Given the description of an element on the screen output the (x, y) to click on. 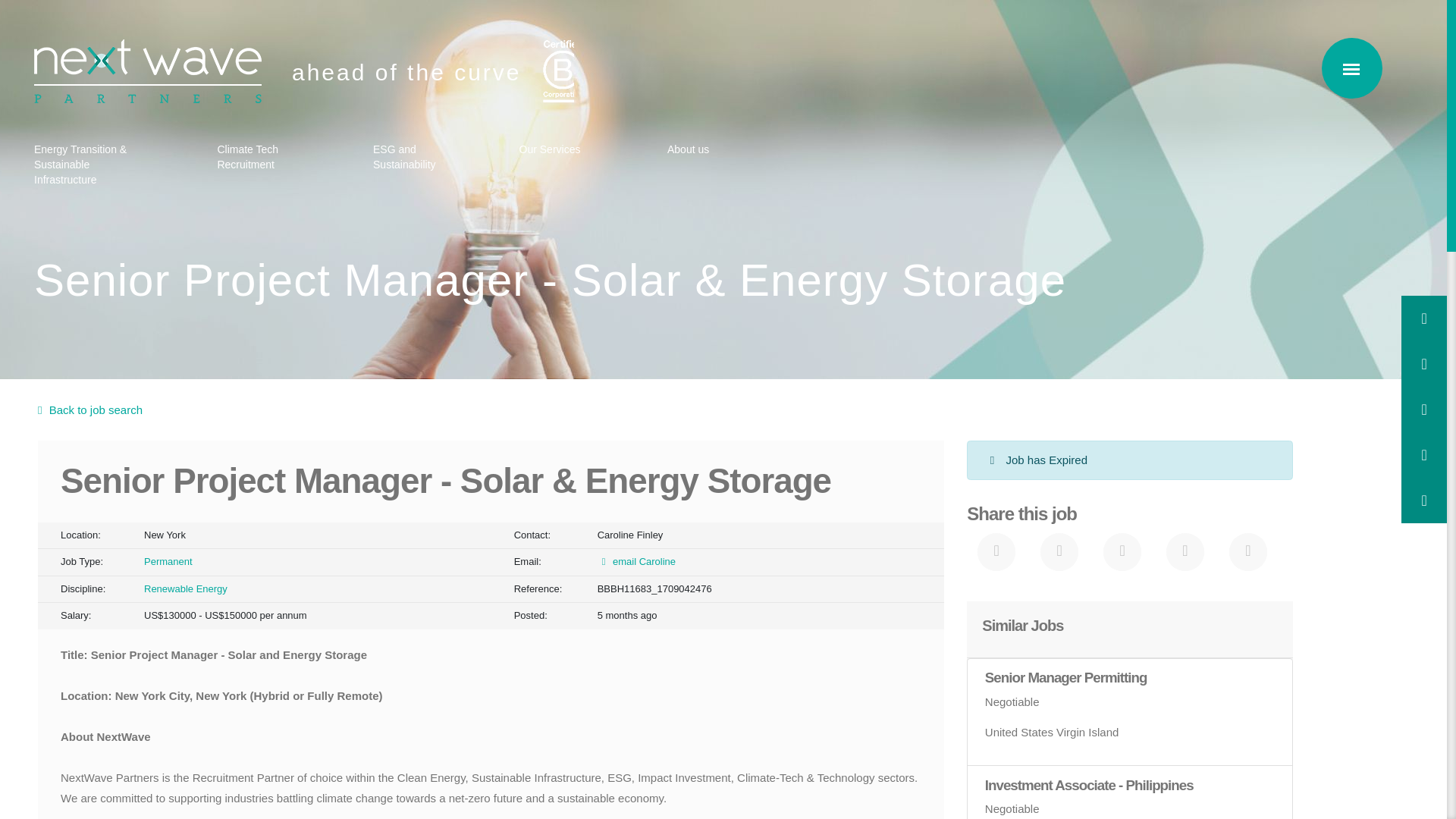
Twitter (995, 551)
LinkedIn (1122, 551)
Email (1185, 551)
Facebook (1059, 551)
Our Services (550, 150)
NextWave Partners (147, 71)
Climate Tech Recruitment (253, 157)
About us (693, 150)
Go to the Homepage (147, 71)
ESG and Sustainability (404, 157)
